Given the description of an element on the screen output the (x, y) to click on. 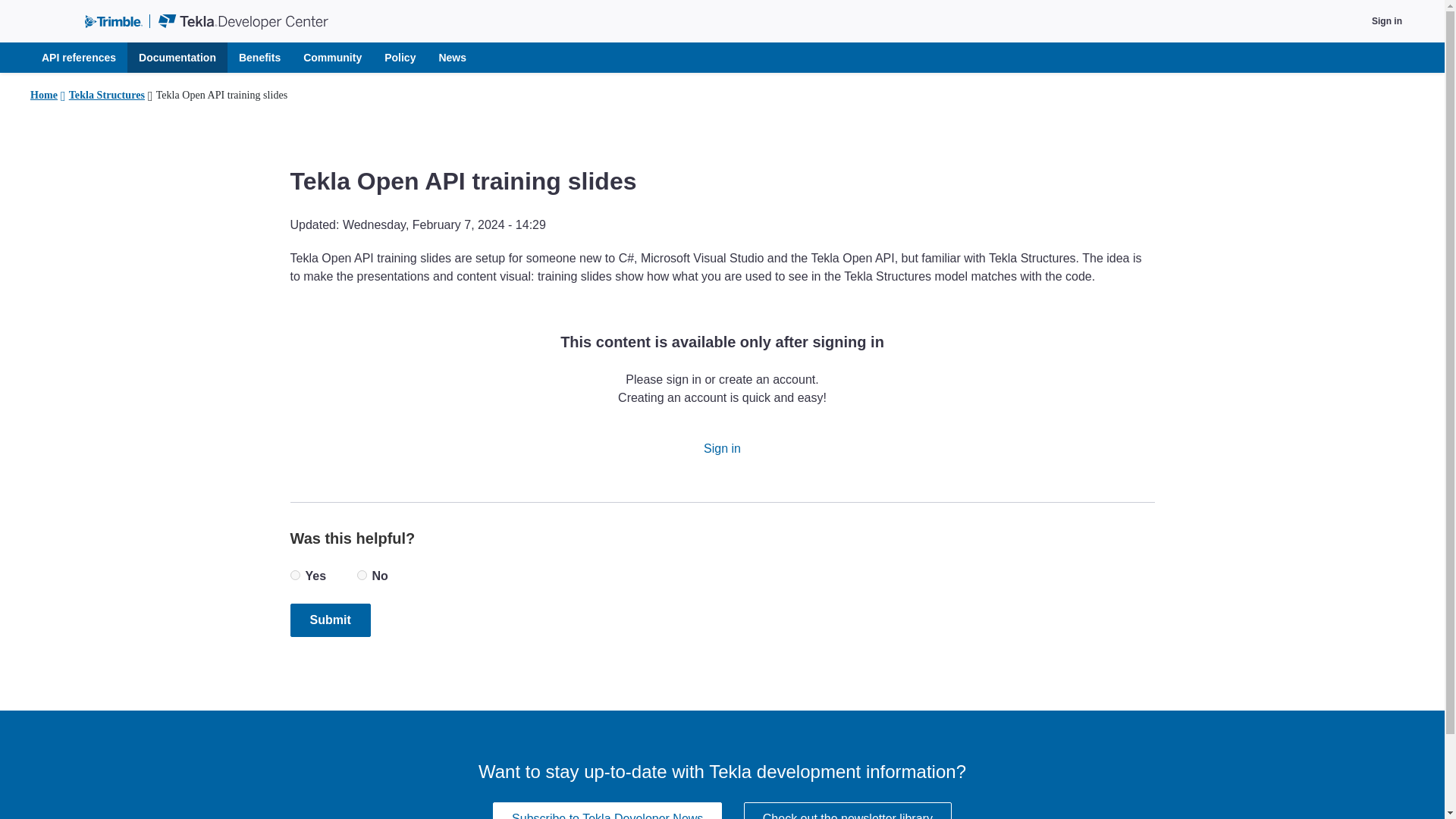
Sign in (1378, 21)
yes (294, 574)
no (361, 574)
Community (332, 57)
API references (79, 57)
Home (44, 95)
News (451, 57)
Benefits (259, 57)
Policy (399, 57)
